Given the description of an element on the screen output the (x, y) to click on. 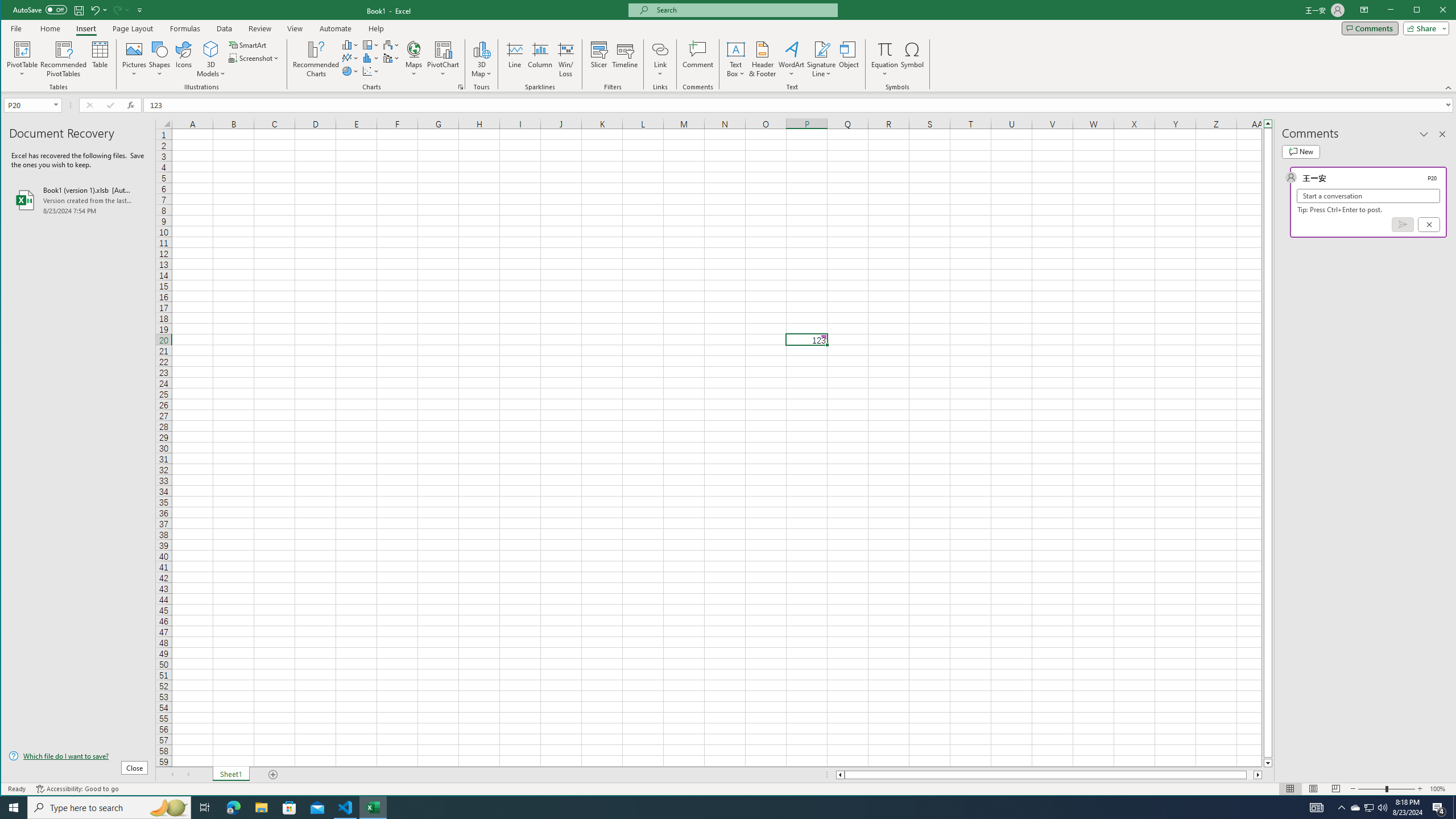
Column (540, 59)
Task View (204, 807)
User Promoted Notification Area (1368, 807)
